Given the description of an element on the screen output the (x, y) to click on. 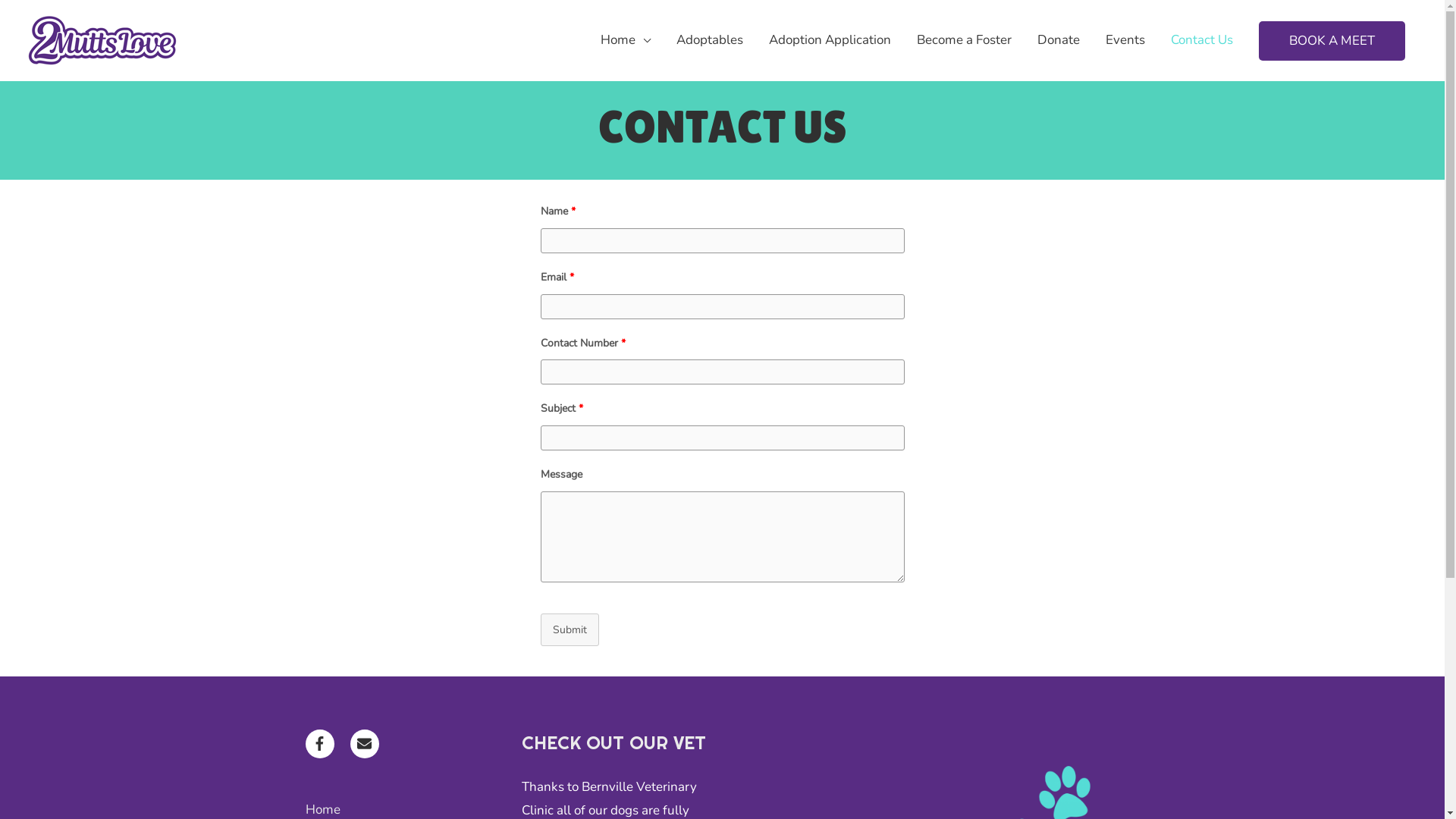
Adoption Application Element type: text (829, 39)
Donate Element type: text (1058, 39)
Adoptables Element type: text (709, 39)
BOOK A MEET Element type: text (1331, 40)
Contact Us Element type: text (1201, 39)
BOOK A MEET Element type: text (1331, 40)
Home Element type: text (625, 39)
Become a Foster Element type: text (963, 39)
Home Element type: text (321, 809)
Events Element type: text (1124, 39)
Submit Element type: text (568, 629)
